Given the description of an element on the screen output the (x, y) to click on. 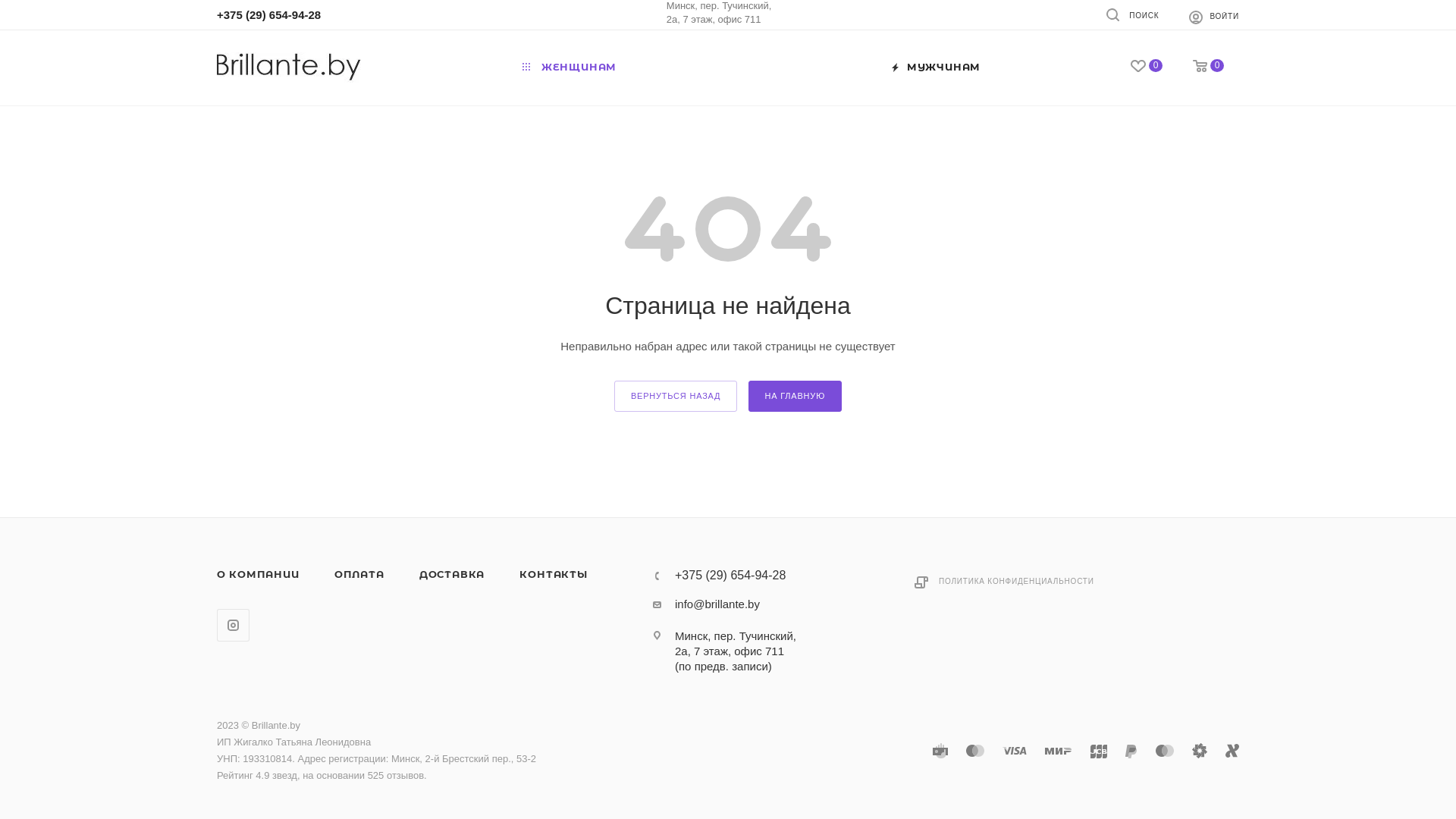
+375 (29) 654-94-28 Element type: text (729, 575)
0 Element type: text (1208, 67)
Cash Element type: hover (939, 750)
Belkart Element type: hover (1199, 750)
Jcb Element type: hover (1098, 750)
MasterCard Element type: hover (975, 750)
Visa Element type: hover (1014, 750)
Mir Element type: hover (1058, 750)
0 Element type: text (1146, 67)
PayPal Element type: hover (1130, 750)
+375 (29) 654-94-28 Element type: text (268, 14)
Halva Element type: hover (1232, 750)
Instagram Element type: text (232, 624)
Maestro Element type: hover (1164, 750)
info@brillante.by Element type: text (716, 603)
